Given the description of an element on the screen output the (x, y) to click on. 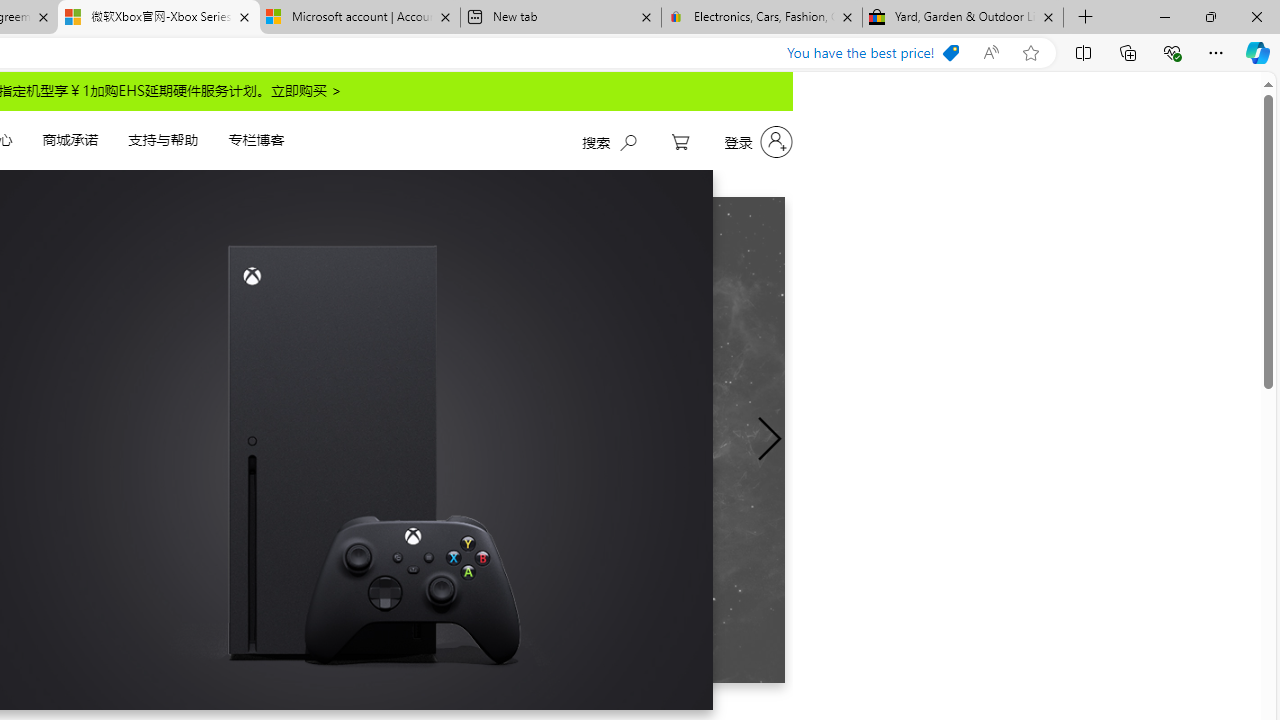
My Cart (679, 142)
Microsoft account | Account Checkup (359, 17)
